Given the description of an element on the screen output the (x, y) to click on. 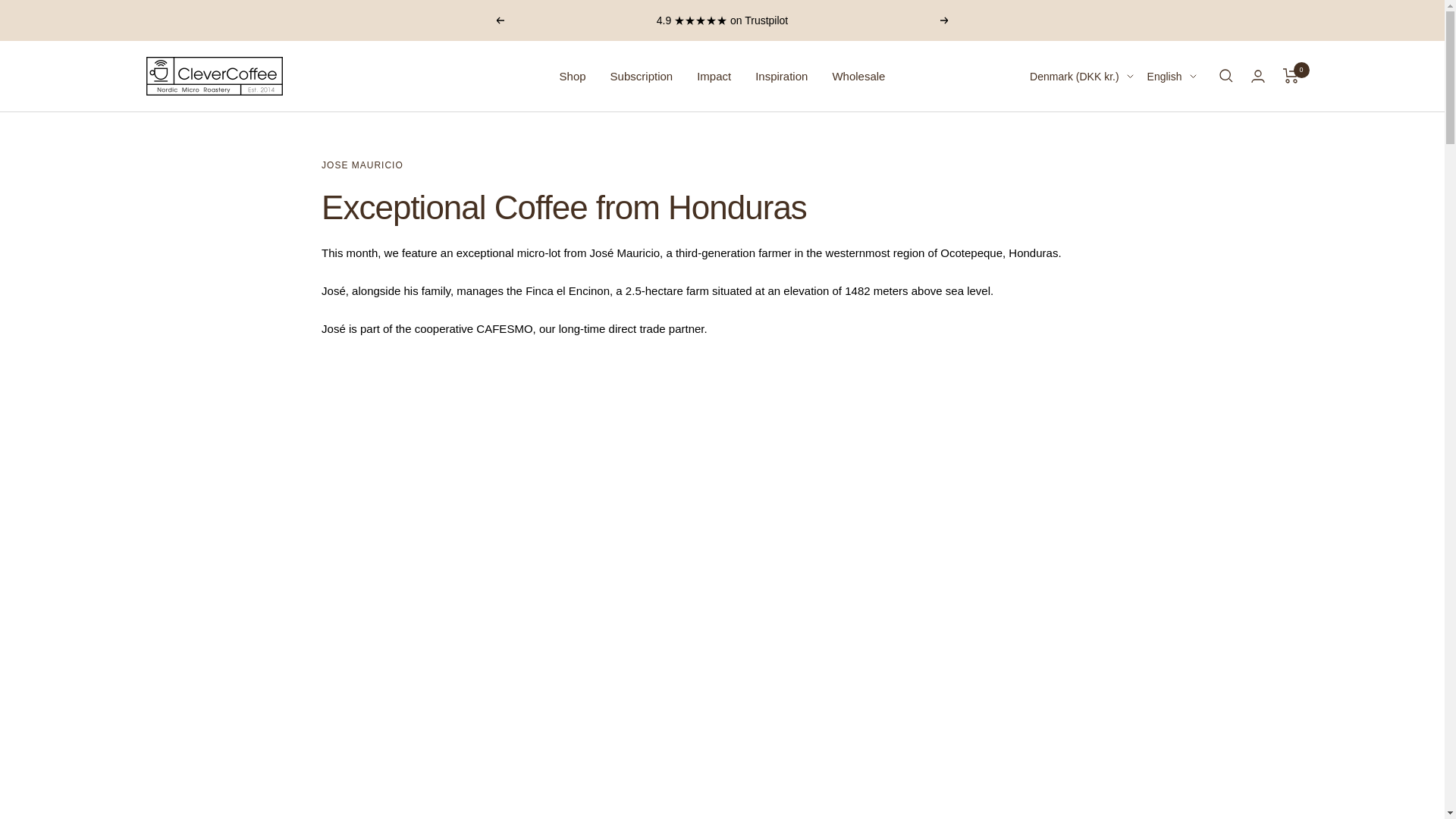
CZ (1053, 228)
LU (1053, 528)
SK (1053, 703)
Subscription (641, 76)
IT (1053, 453)
DK (1053, 252)
PL (1053, 603)
SE (1053, 778)
CleverCoffee.dk (213, 75)
NL (1053, 553)
